Given the description of an element on the screen output the (x, y) to click on. 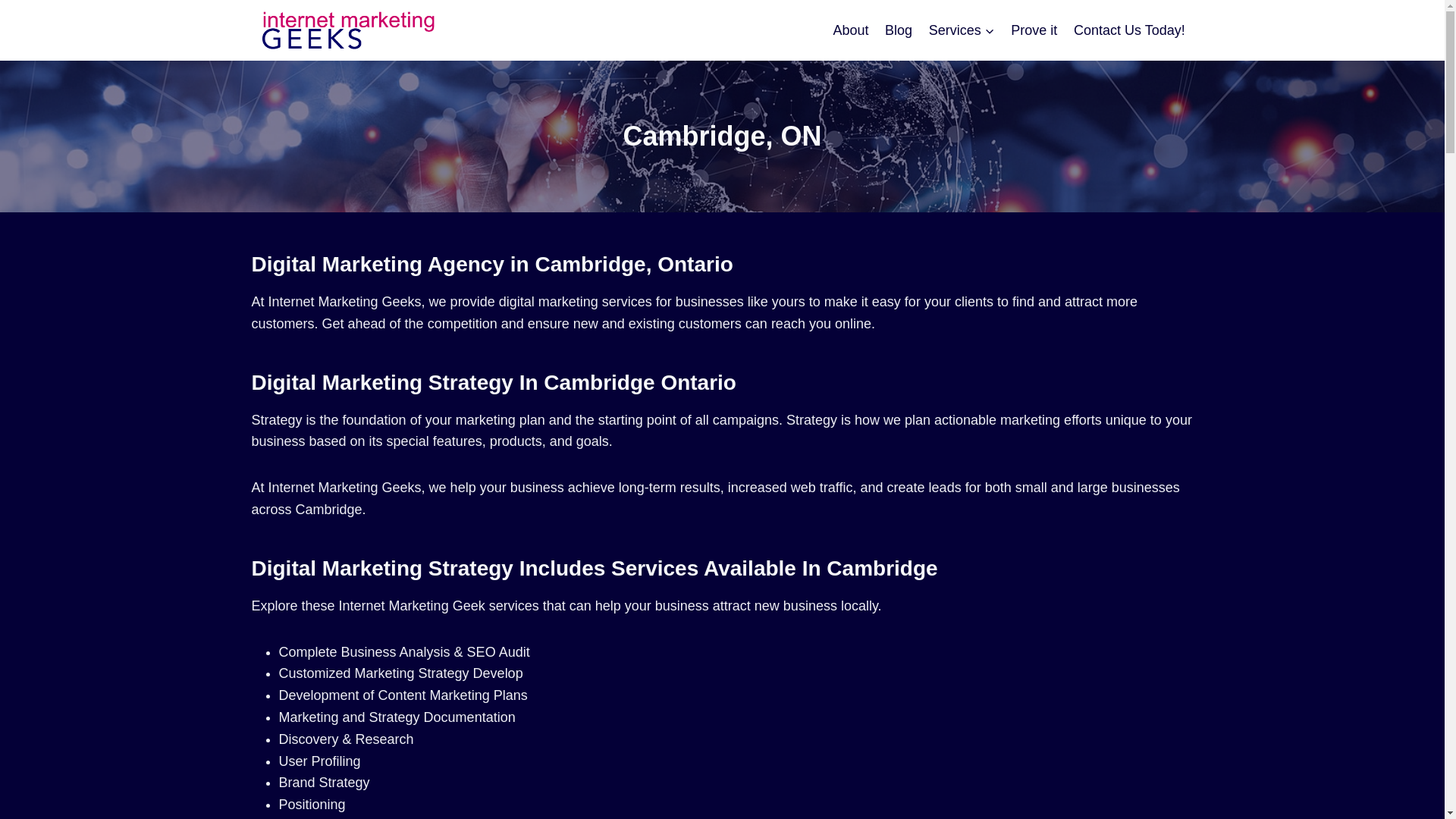
Contact Us Today! (1128, 30)
About (851, 30)
Blog (898, 30)
Services (961, 30)
Prove it (1034, 30)
